Given the description of an element on the screen output the (x, y) to click on. 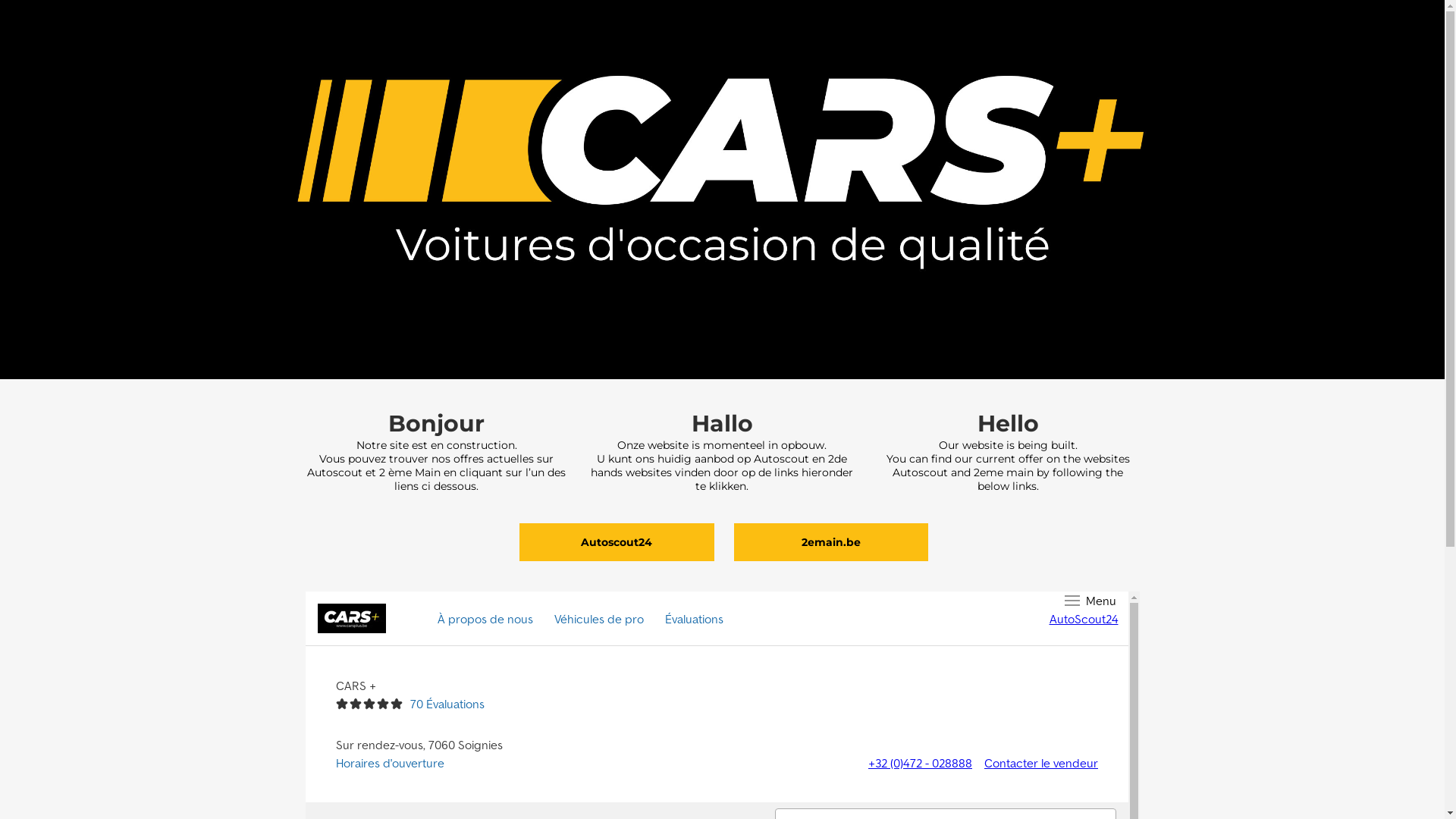
Autoscout24 Element type: text (616, 542)
2emain.be Element type: text (831, 542)
